Given the description of an element on the screen output the (x, y) to click on. 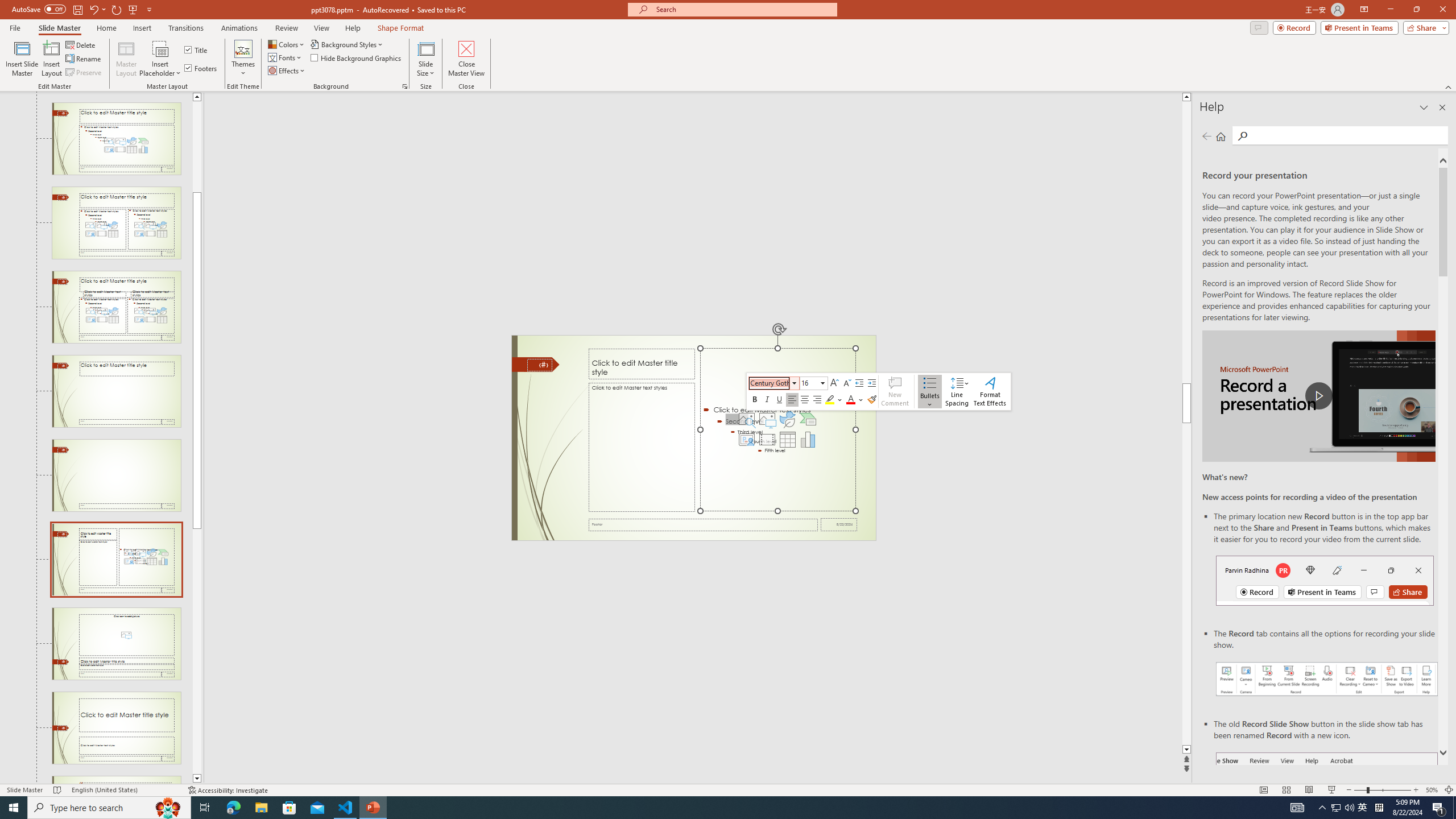
Slide Content with Caption Layout: used by no slides (116, 559)
Slide Quote with Caption Layout: used by no slides (116, 779)
New Comment (895, 391)
